Given the description of an element on the screen output the (x, y) to click on. 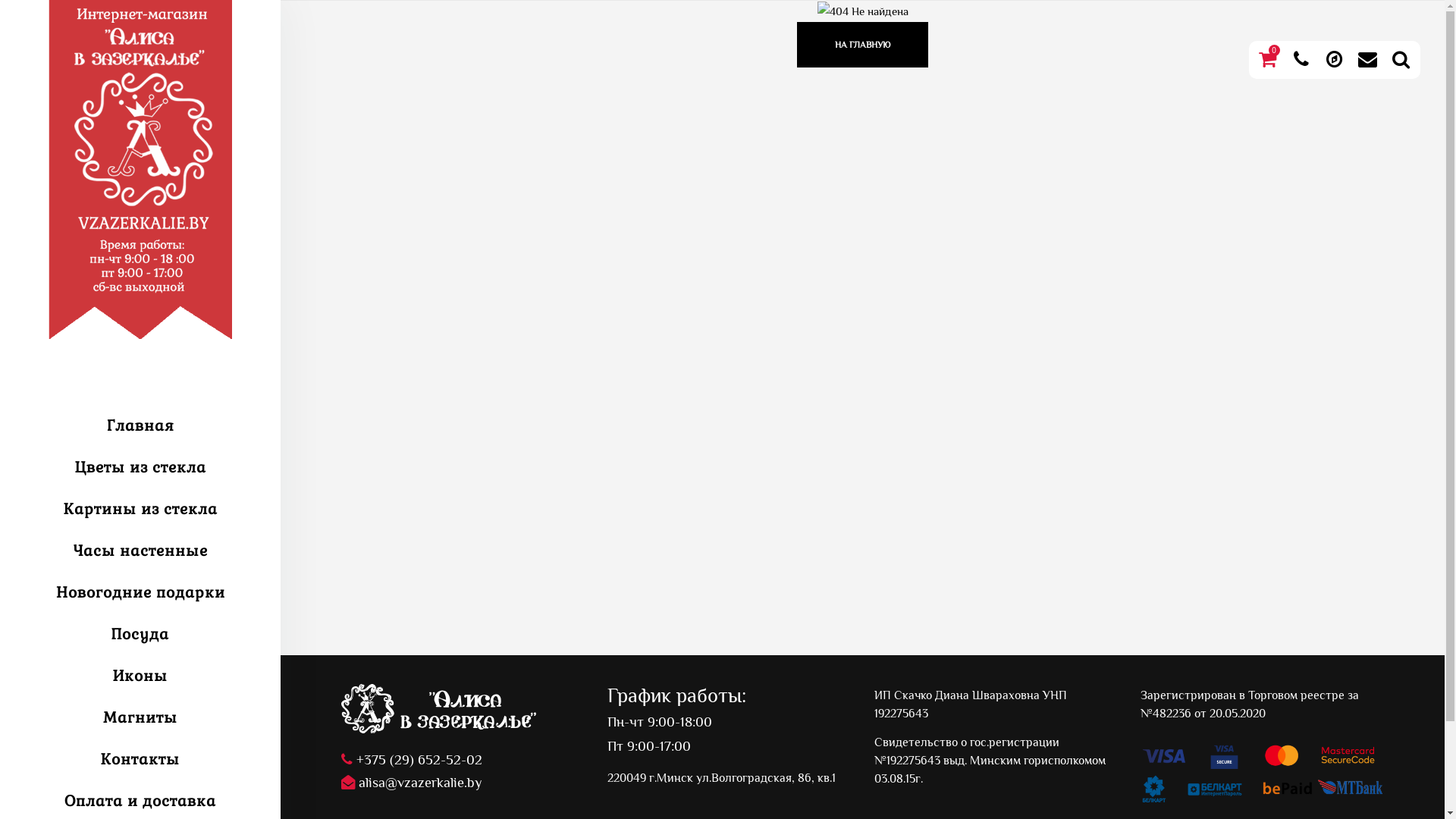
0 Element type: text (1267, 59)
alisa@vzazerkalie.by Element type: text (462, 782)
+375 (29) 652-52-02 Element type: text (462, 780)
